Given the description of an element on the screen output the (x, y) to click on. 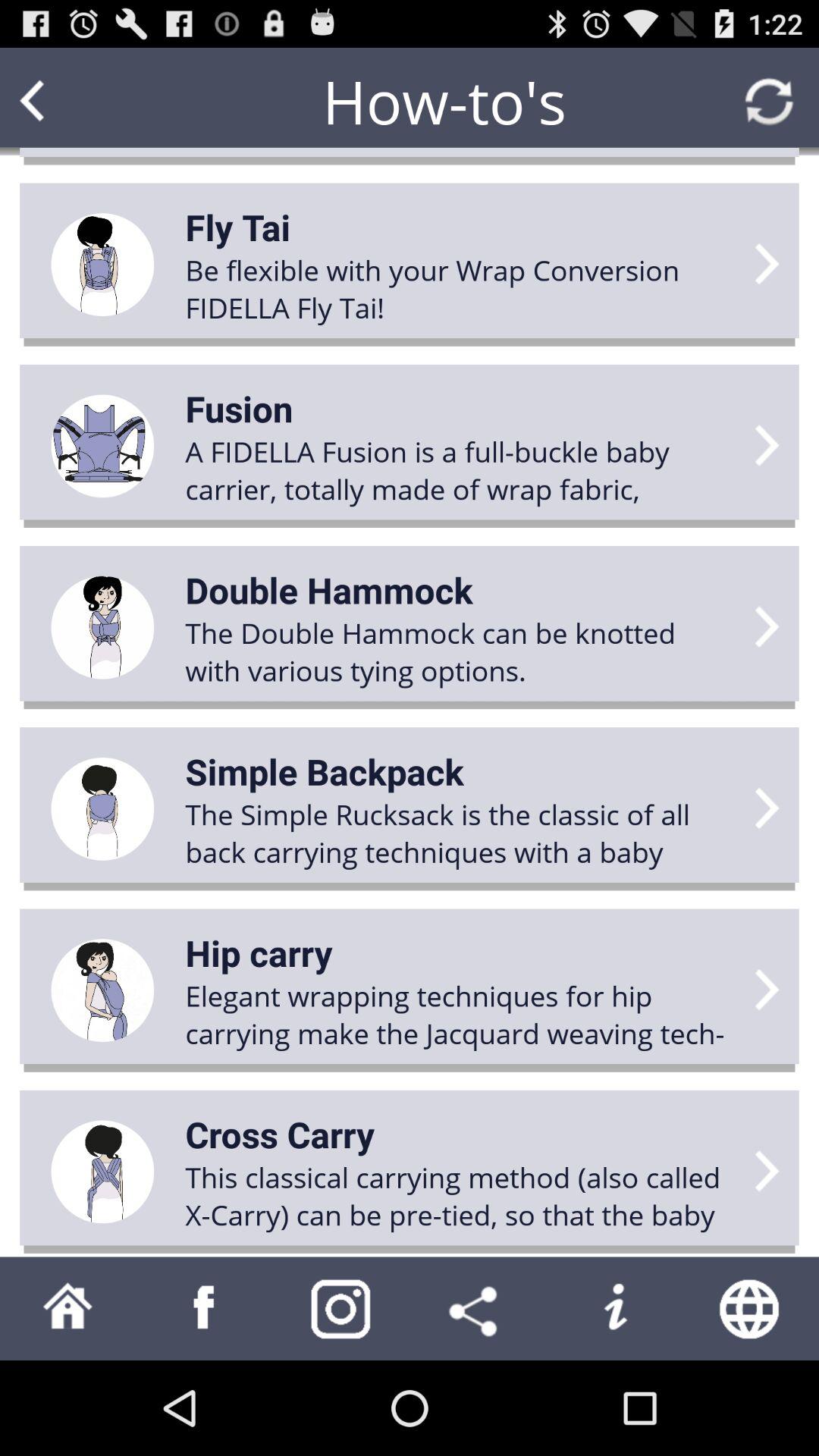
go to previous (61, 101)
